Given the description of an element on the screen output the (x, y) to click on. 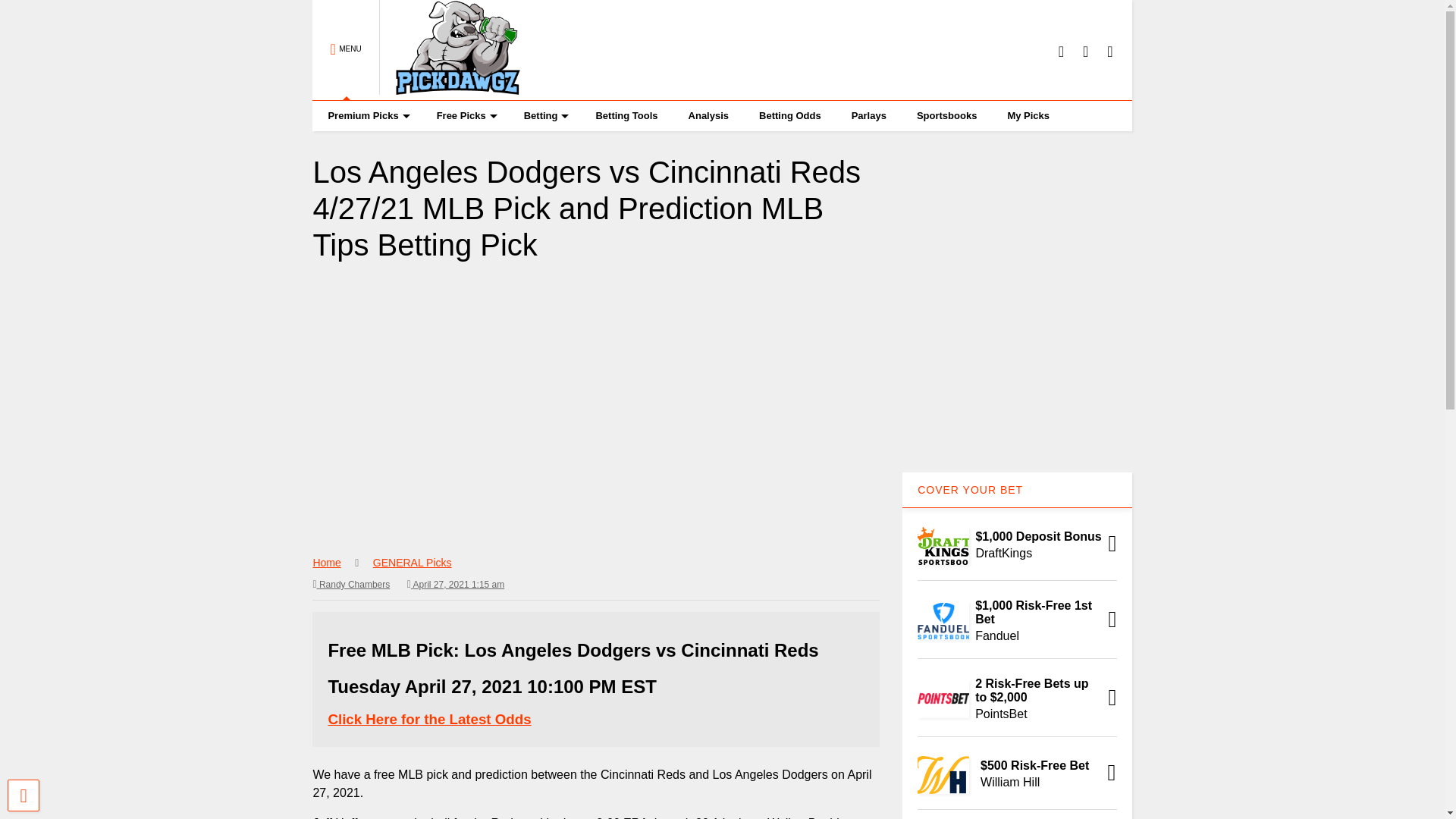
Premium Picks (366, 115)
Betting (544, 115)
Randy Chambers (351, 584)
Analysis (708, 115)
Free Picks (465, 115)
PickDawgz (449, 87)
Betting Tools (625, 115)
MENU (345, 49)
2021-04-27T01:15:15-0400 (456, 584)
